Given the description of an element on the screen output the (x, y) to click on. 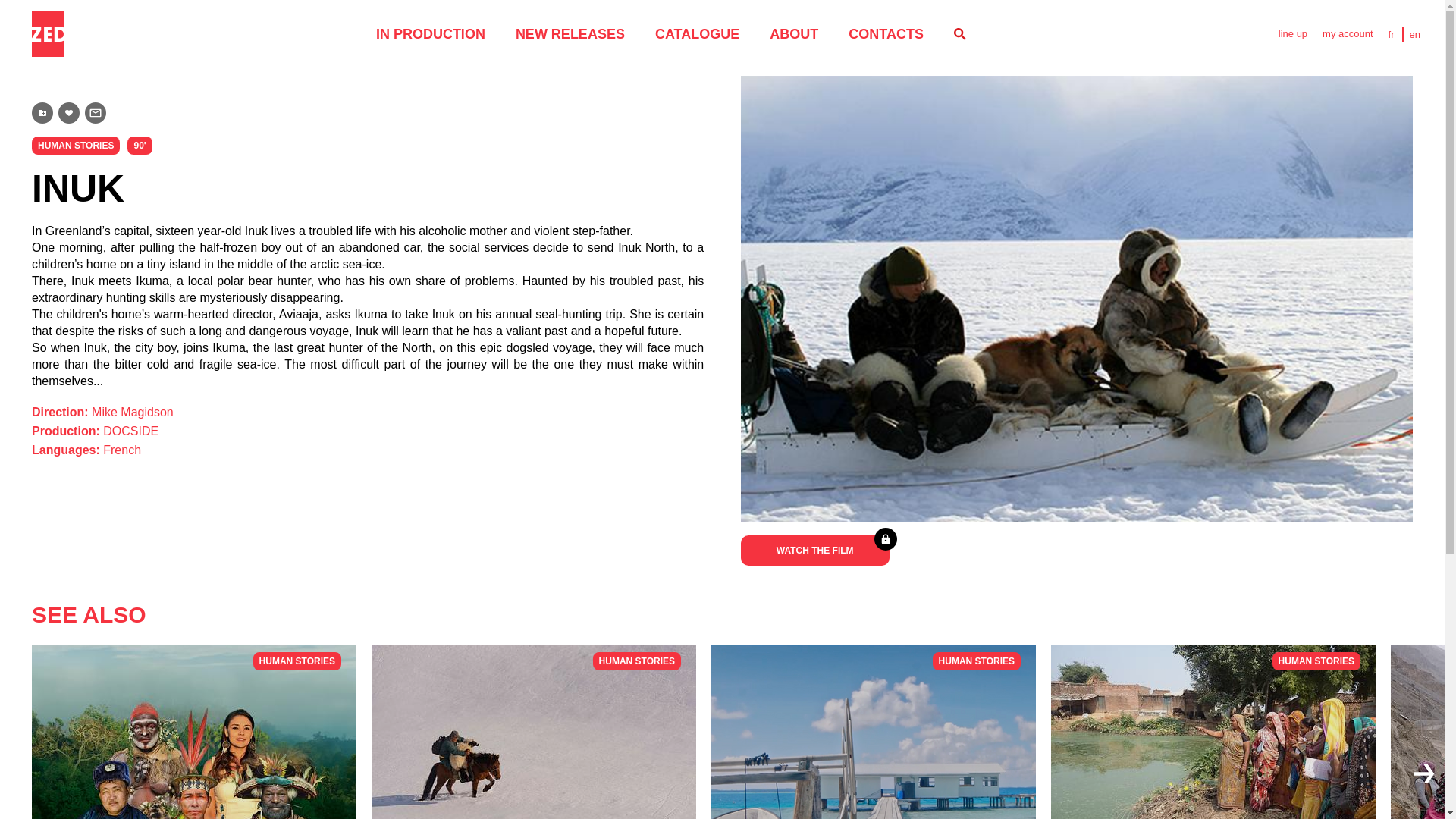
ABOUT (794, 33)
CONTACTS (194, 731)
my account (1213, 731)
NEW RELEASES (885, 33)
Page 1 (1347, 33)
CATALOGUE (569, 33)
line up (367, 305)
en (697, 33)
IN PRODUCTION (1292, 33)
WATCH THE FILM (533, 731)
